Given the description of an element on the screen output the (x, y) to click on. 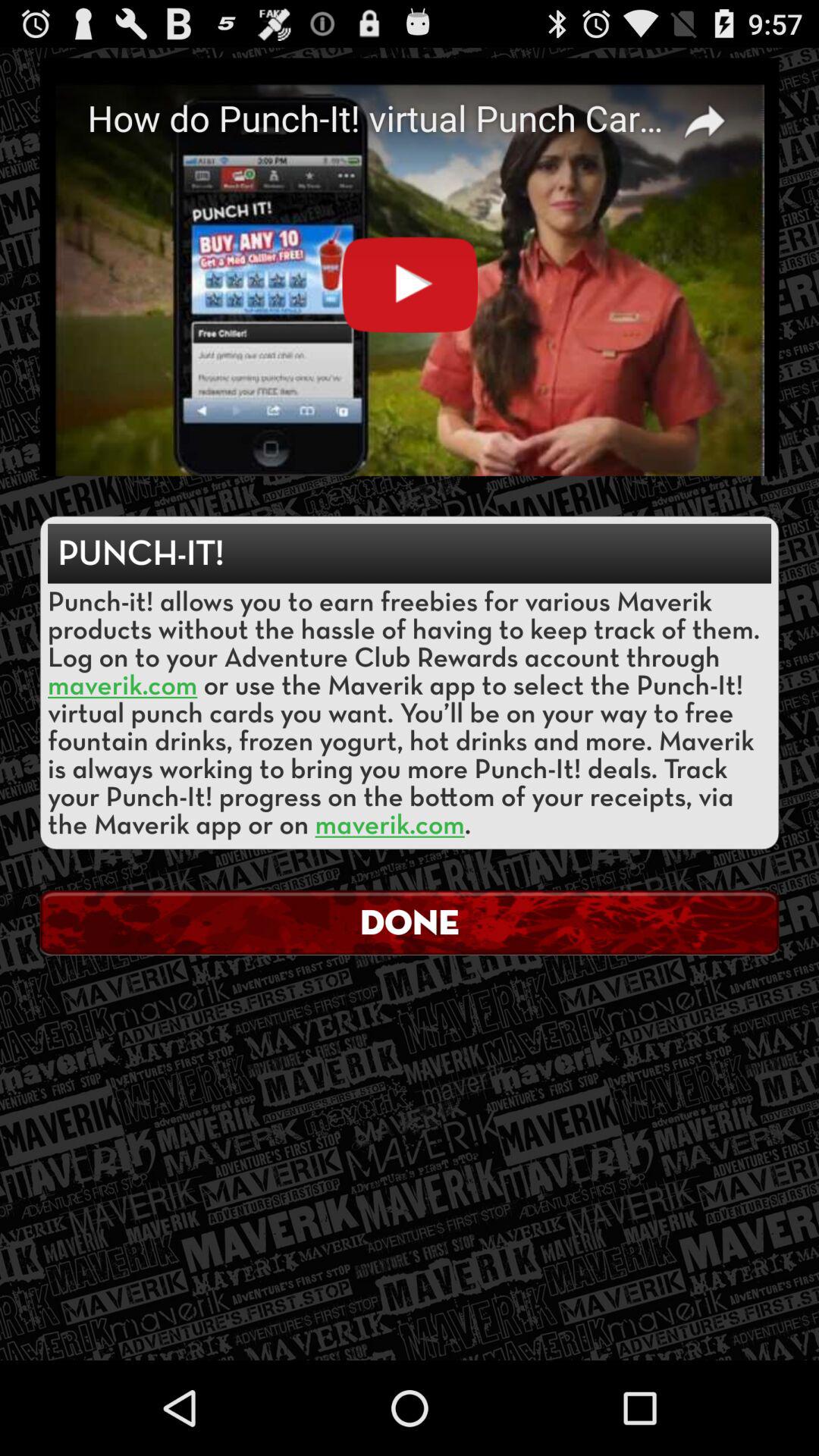
turn on the icon above the punch-it! icon (409, 267)
